Given the description of an element on the screen output the (x, y) to click on. 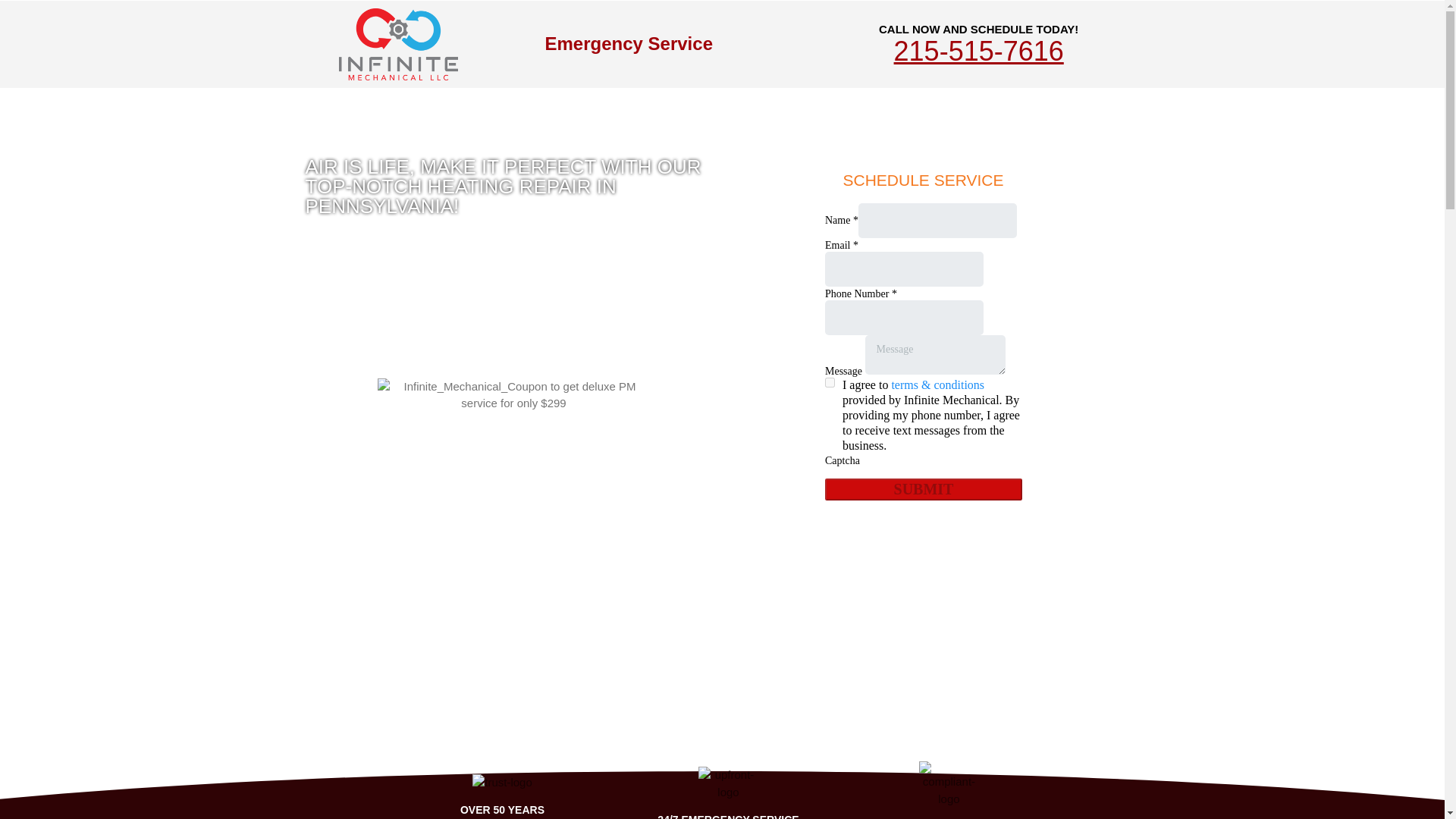
215-515-7616 (978, 51)
